Given the description of an element on the screen output the (x, y) to click on. 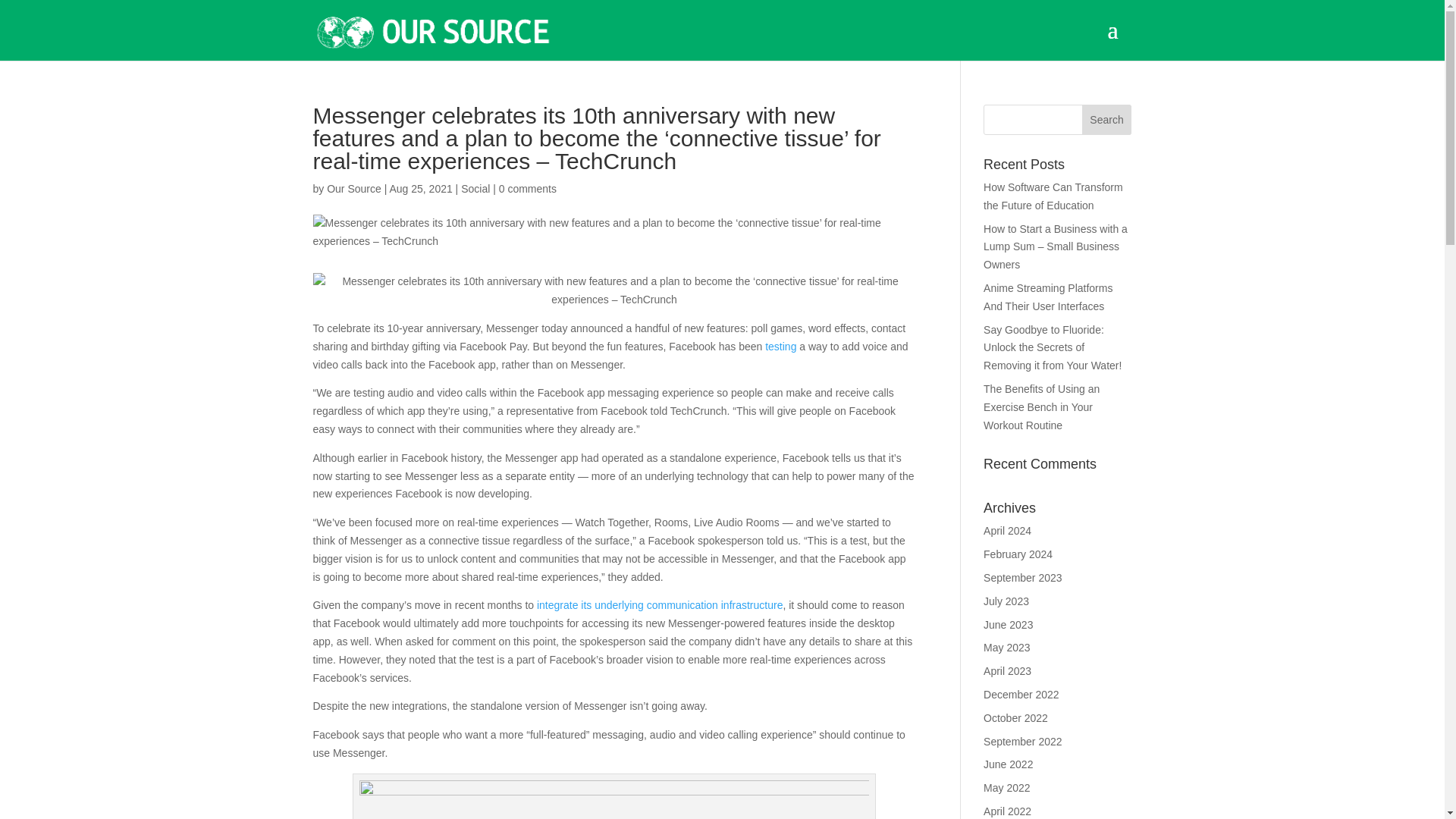
Our Source (353, 188)
Search (1106, 119)
integrate its underlying communication infrastructure (660, 604)
Social (475, 188)
0 comments (527, 188)
Anime Streaming Platforms And Their User Interfaces (1048, 296)
testing (780, 346)
How Software Can Transform the Future of Education (1053, 195)
Search (1106, 119)
Posts by Our Source (353, 188)
